Given the description of an element on the screen output the (x, y) to click on. 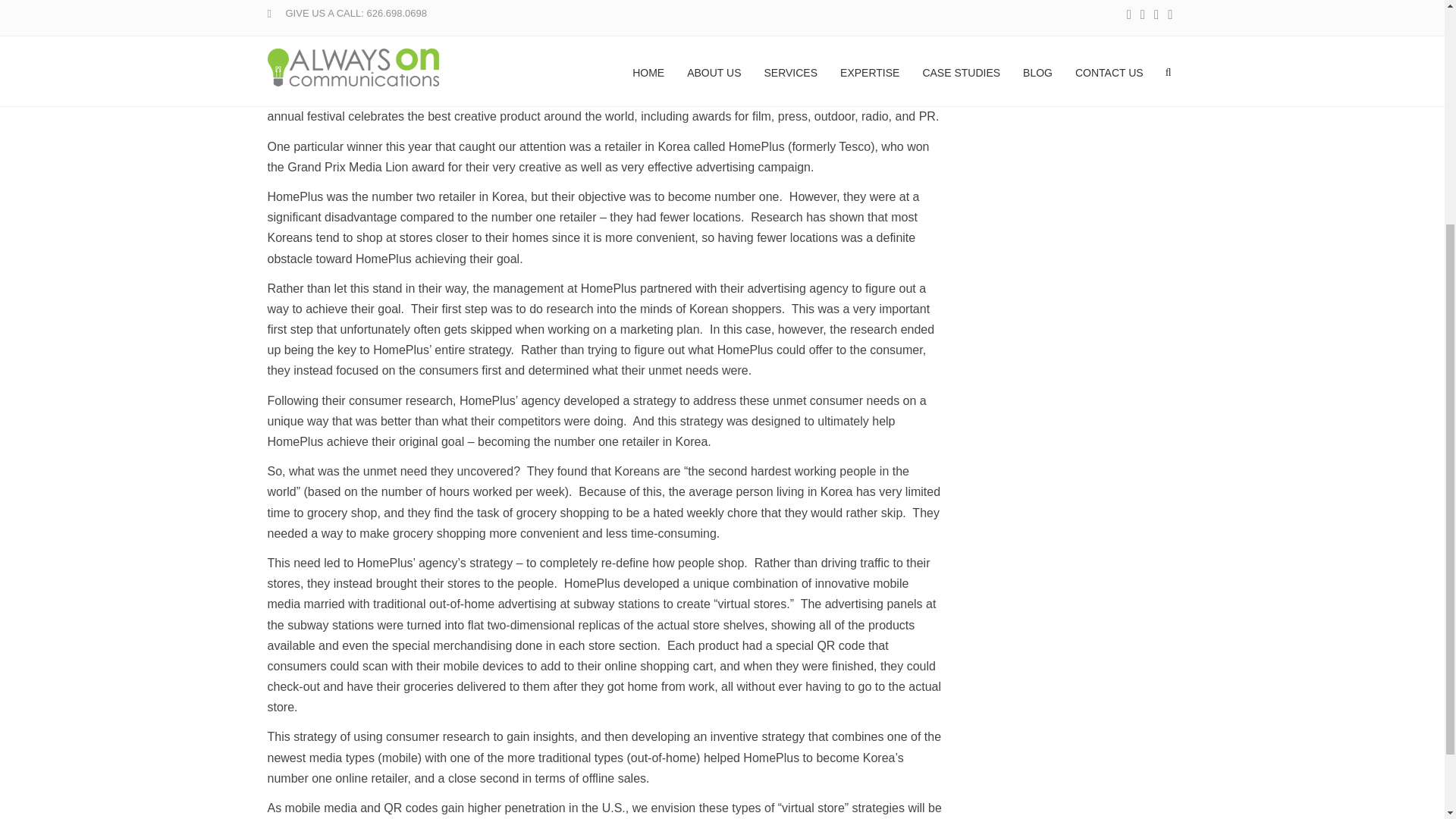
How Much Social Media Is Enough? (719, 70)
HomePlus Virtual Store (380, 35)
How Much Social Media Is Enough? (600, 87)
Send (295, 353)
New Timeline for Facebook Pages (600, 237)
A Whole Week of Super Bowl (600, 343)
Send (295, 353)
